Given the description of an element on the screen output the (x, y) to click on. 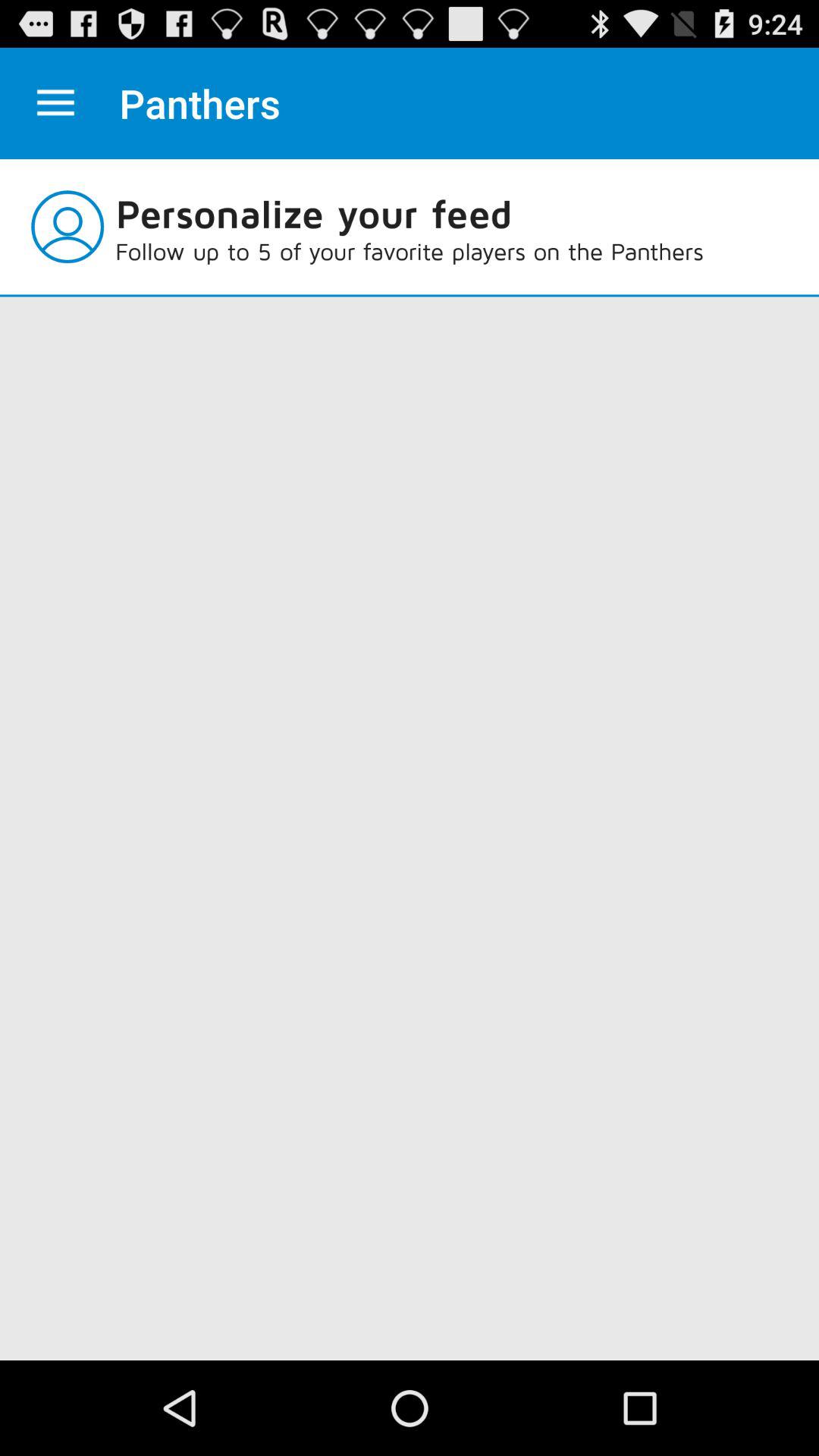
launch item next to panthers icon (55, 103)
